Given the description of an element on the screen output the (x, y) to click on. 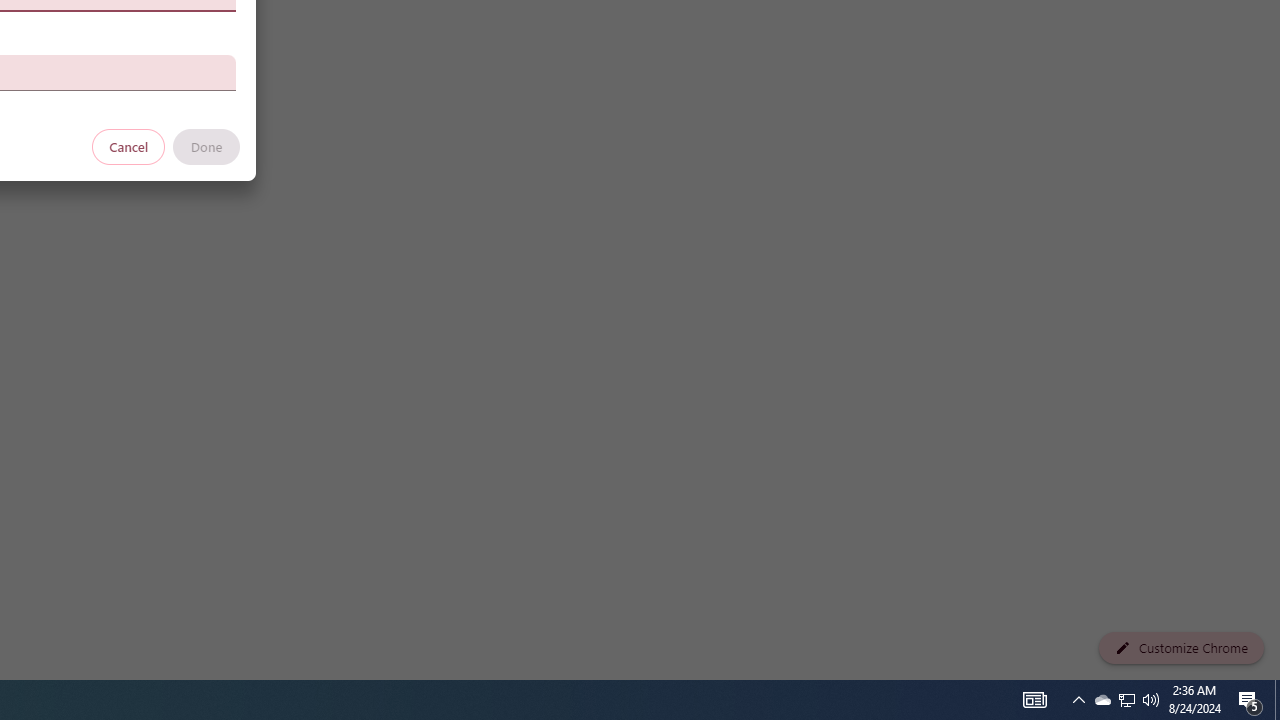
Cancel (129, 146)
Done (206, 146)
